Given the description of an element on the screen output the (x, y) to click on. 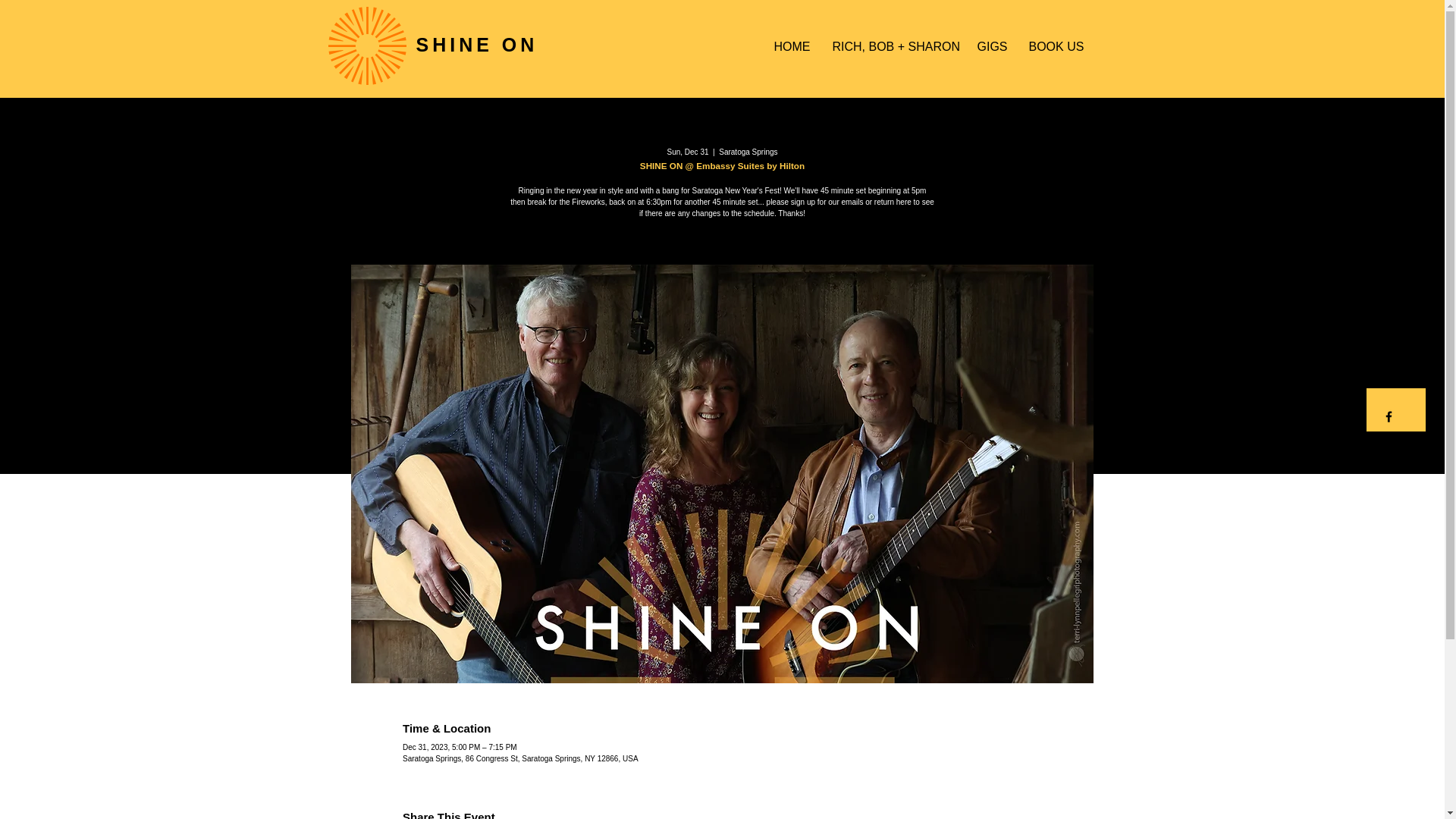
BOOK US (1055, 46)
SHINE ON (475, 44)
HOME (791, 46)
GIGS (991, 46)
